Given the description of an element on the screen output the (x, y) to click on. 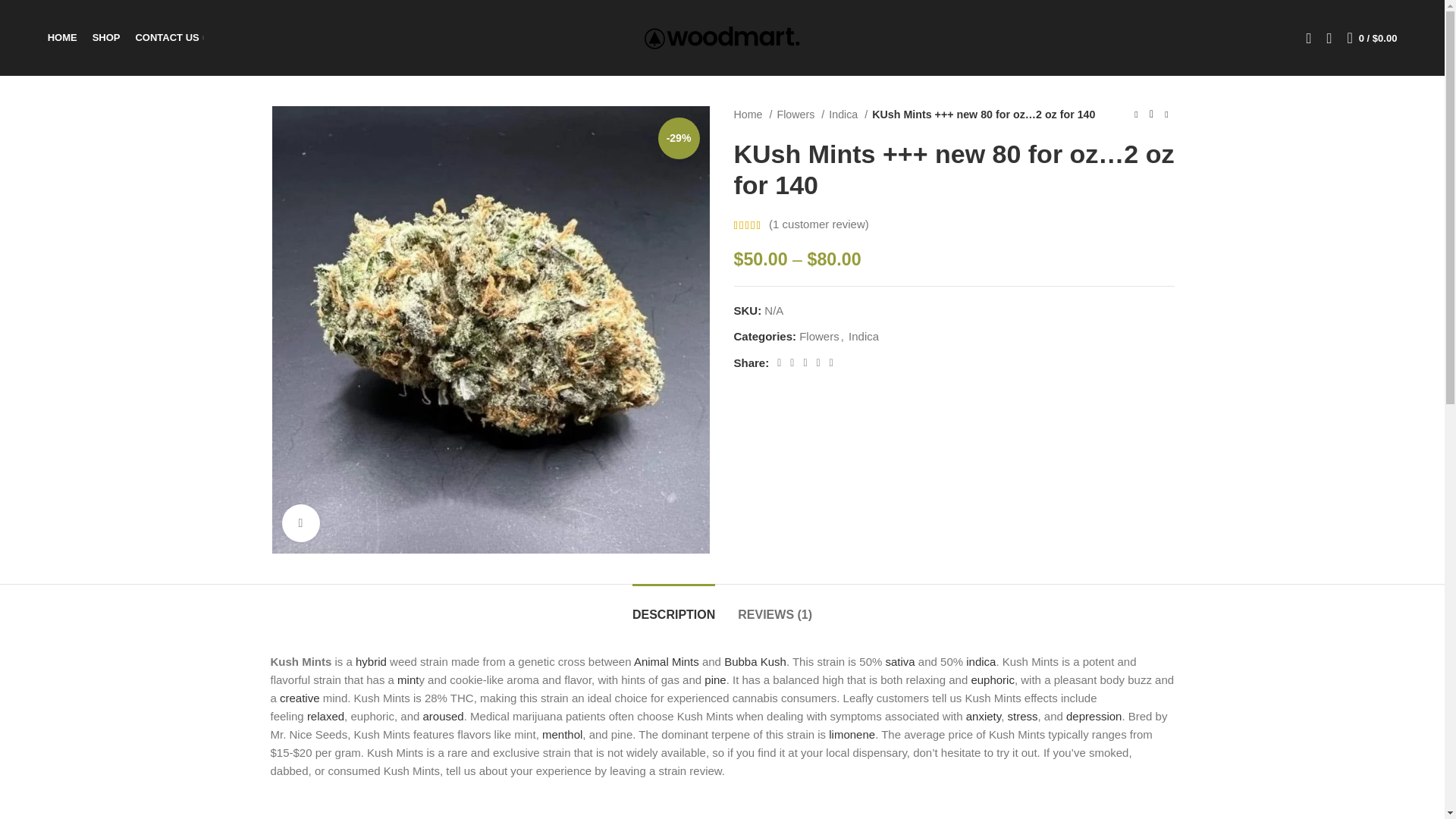
Flowers (800, 114)
mint (408, 679)
HOME (62, 37)
Bubba Kush (754, 661)
DESCRIPTION (672, 606)
indica (980, 661)
SHOP (106, 37)
sativa (899, 661)
pine (714, 679)
hybrid (371, 661)
